Given the description of an element on the screen output the (x, y) to click on. 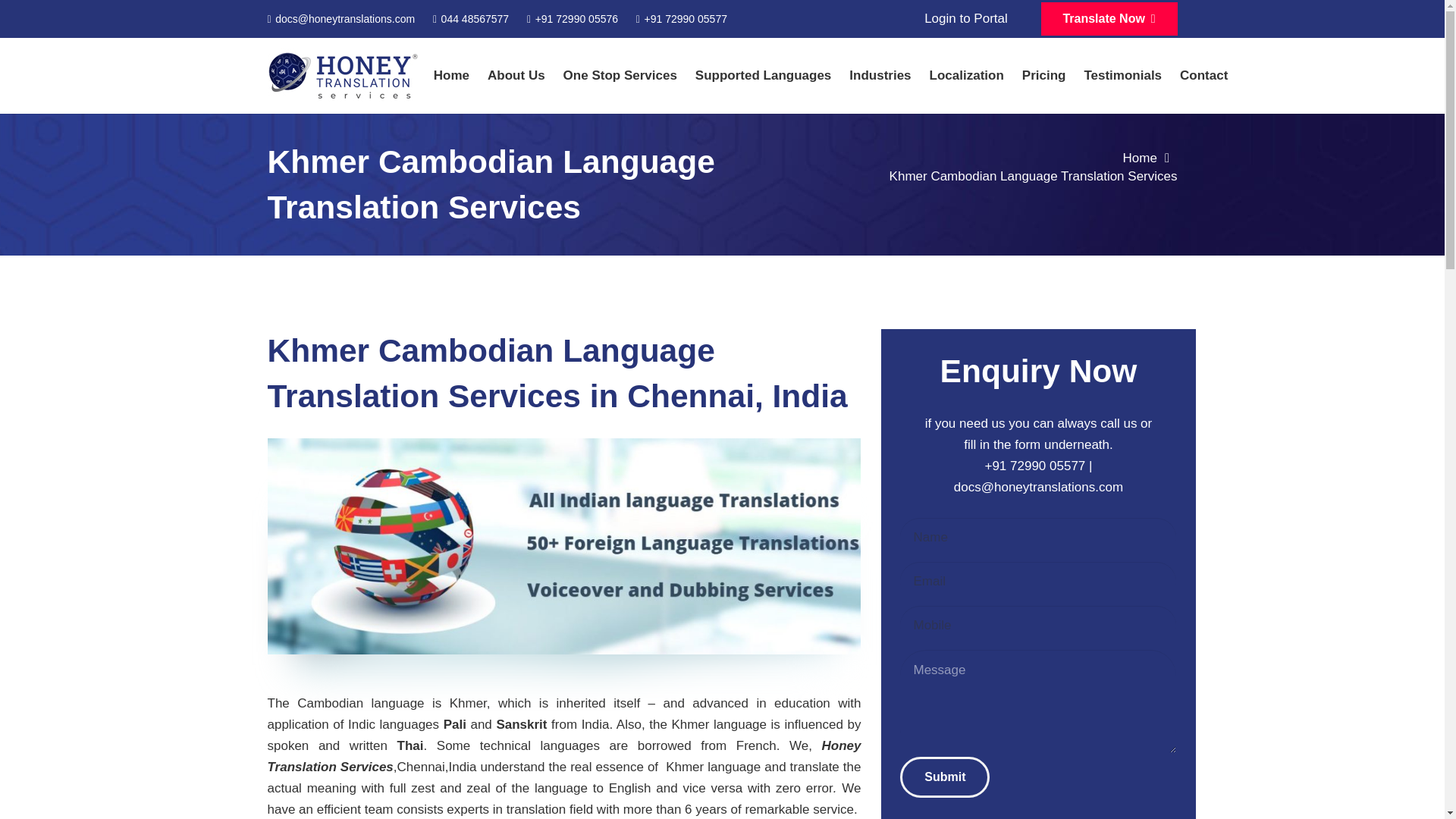
About Us (516, 75)
044 48567577 (470, 18)
Translate Now (1109, 19)
Submit (944, 776)
One Stop Services (619, 75)
Login to Portal (965, 18)
